Given the description of an element on the screen output the (x, y) to click on. 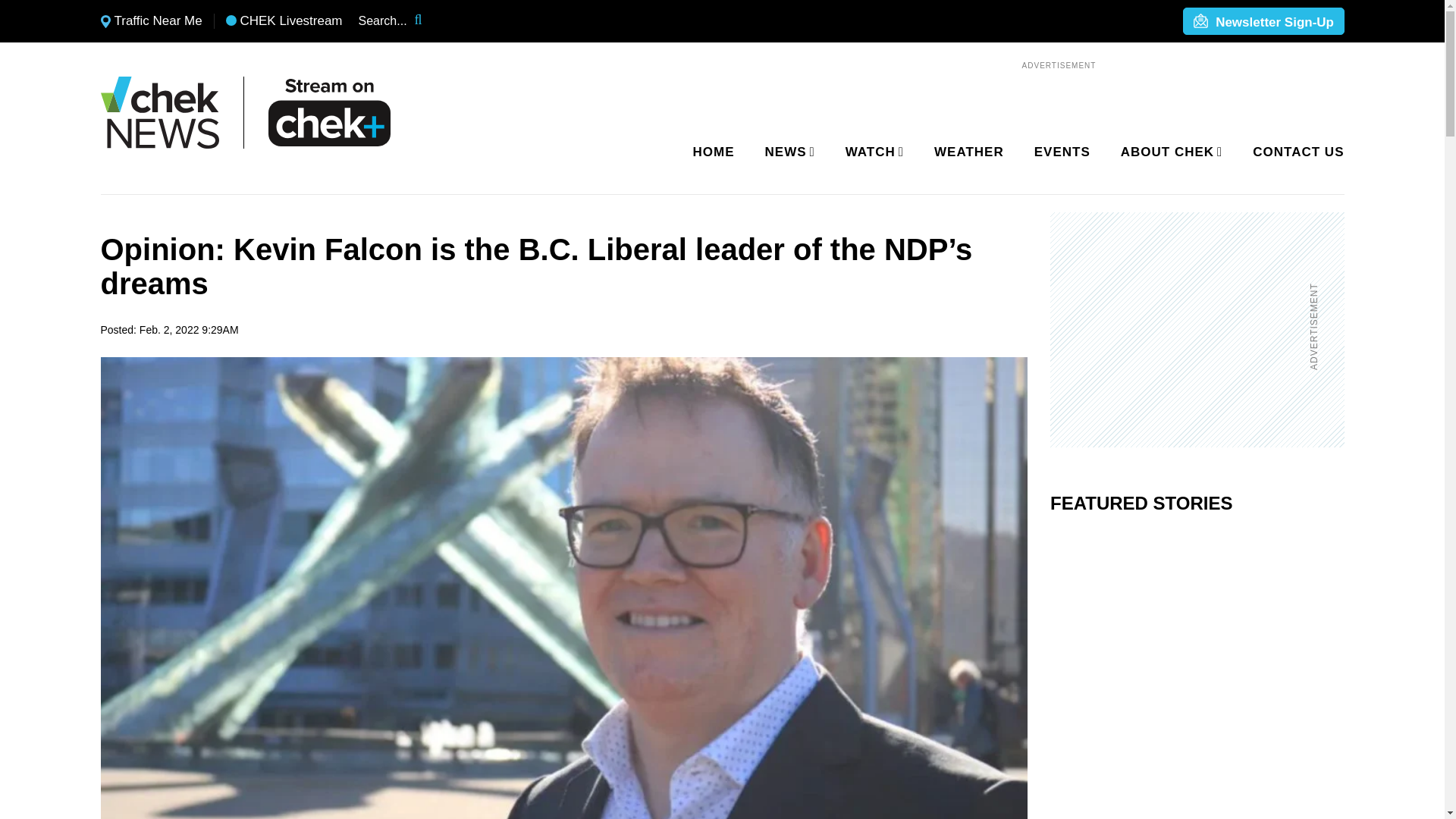
Search (428, 21)
NEWS (787, 152)
CHEK Livestream (283, 20)
Newsletter Sign-Up (1262, 22)
Traffic Near Me (151, 20)
HOME (714, 152)
